Given the description of an element on the screen output the (x, y) to click on. 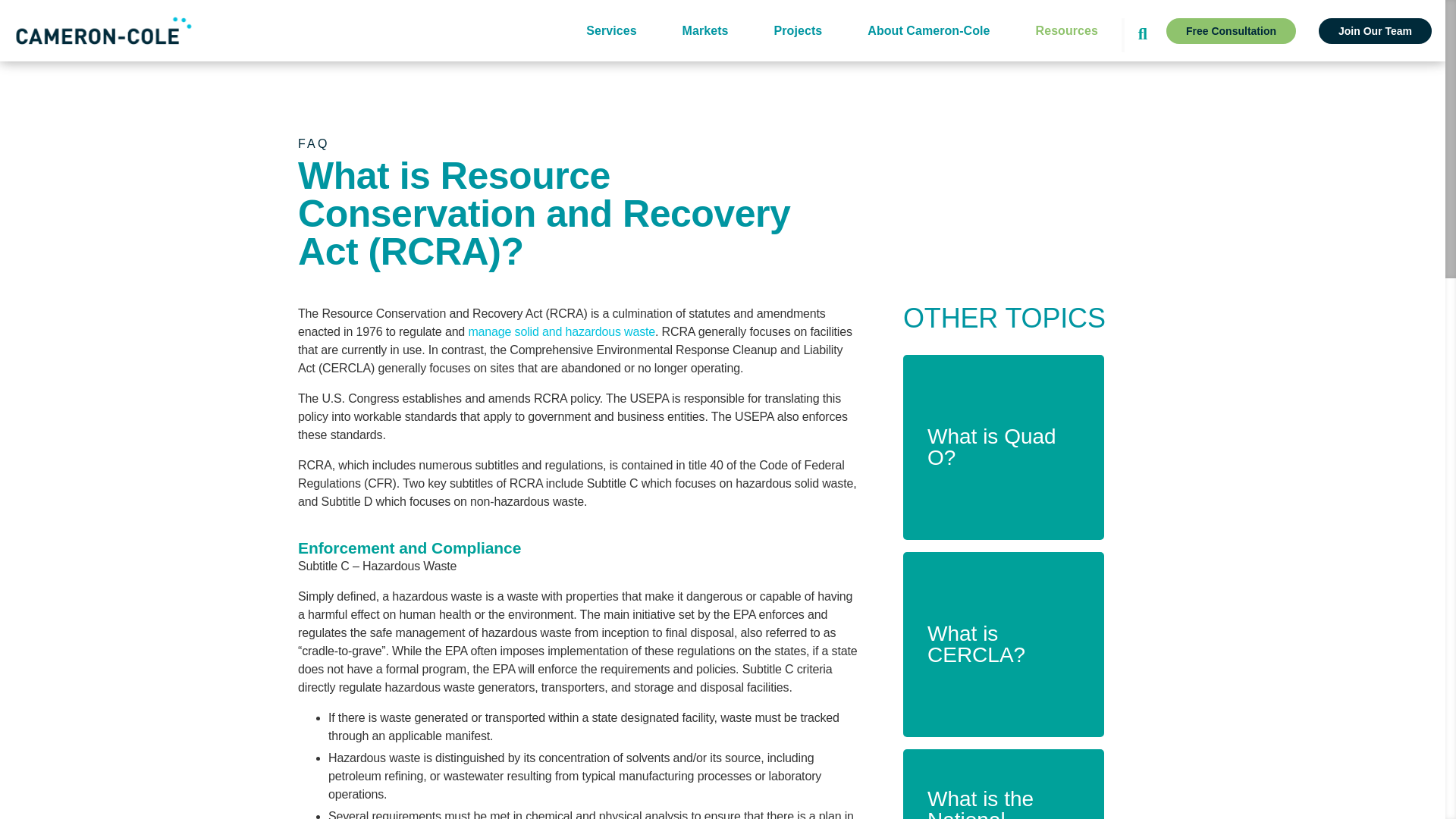
Markets (705, 31)
About Cameron-Cole (928, 31)
Cameron-Cole (103, 30)
What is the National Enforcement Investigation Center? (1002, 784)
What is CERCLA? (1002, 644)
What is Quad O? (1002, 446)
Resources (1066, 31)
Services (611, 31)
Projects (798, 31)
